Given the description of an element on the screen output the (x, y) to click on. 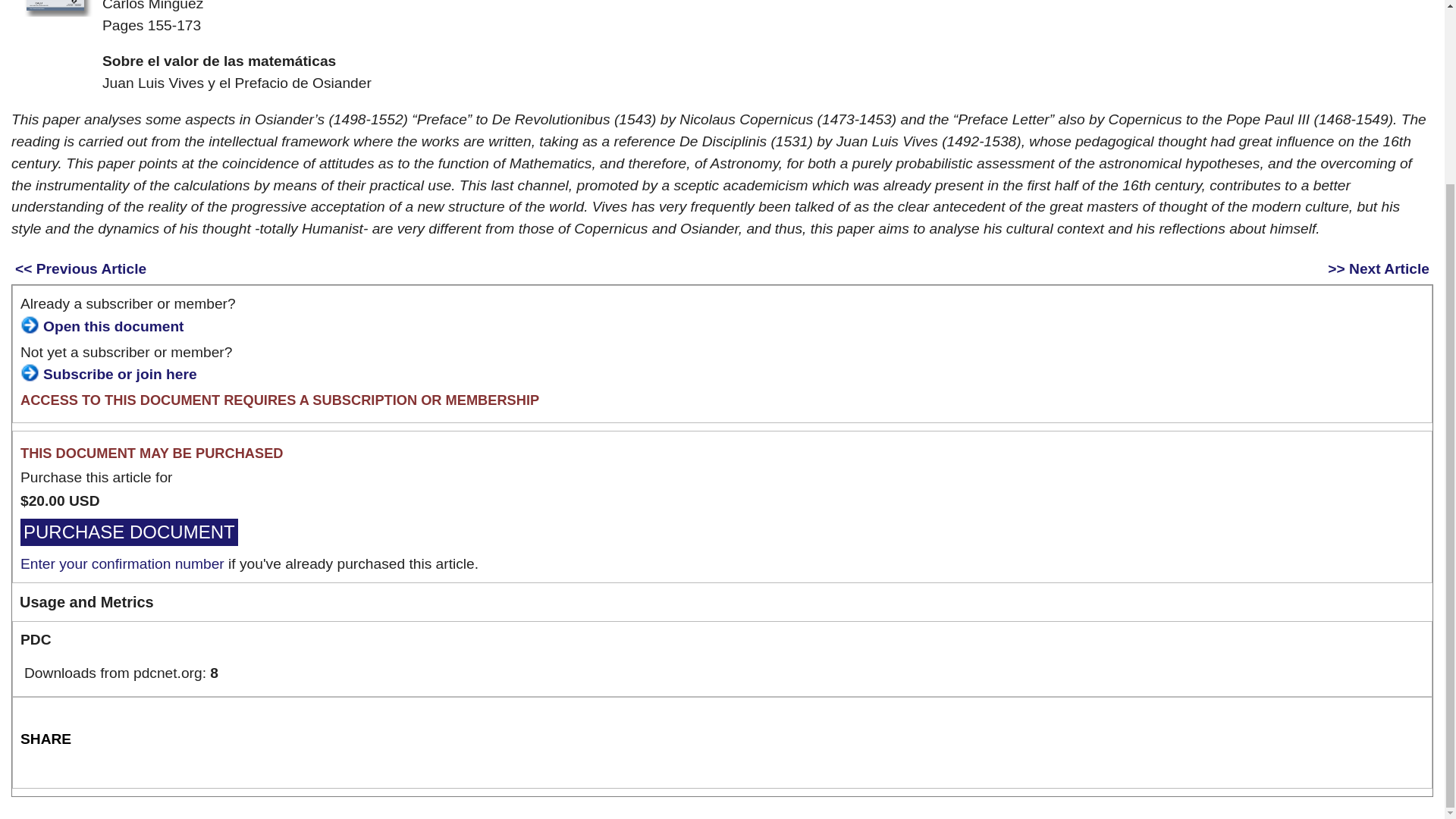
PURCHASE DOCUMENT (129, 531)
